Given the description of an element on the screen output the (x, y) to click on. 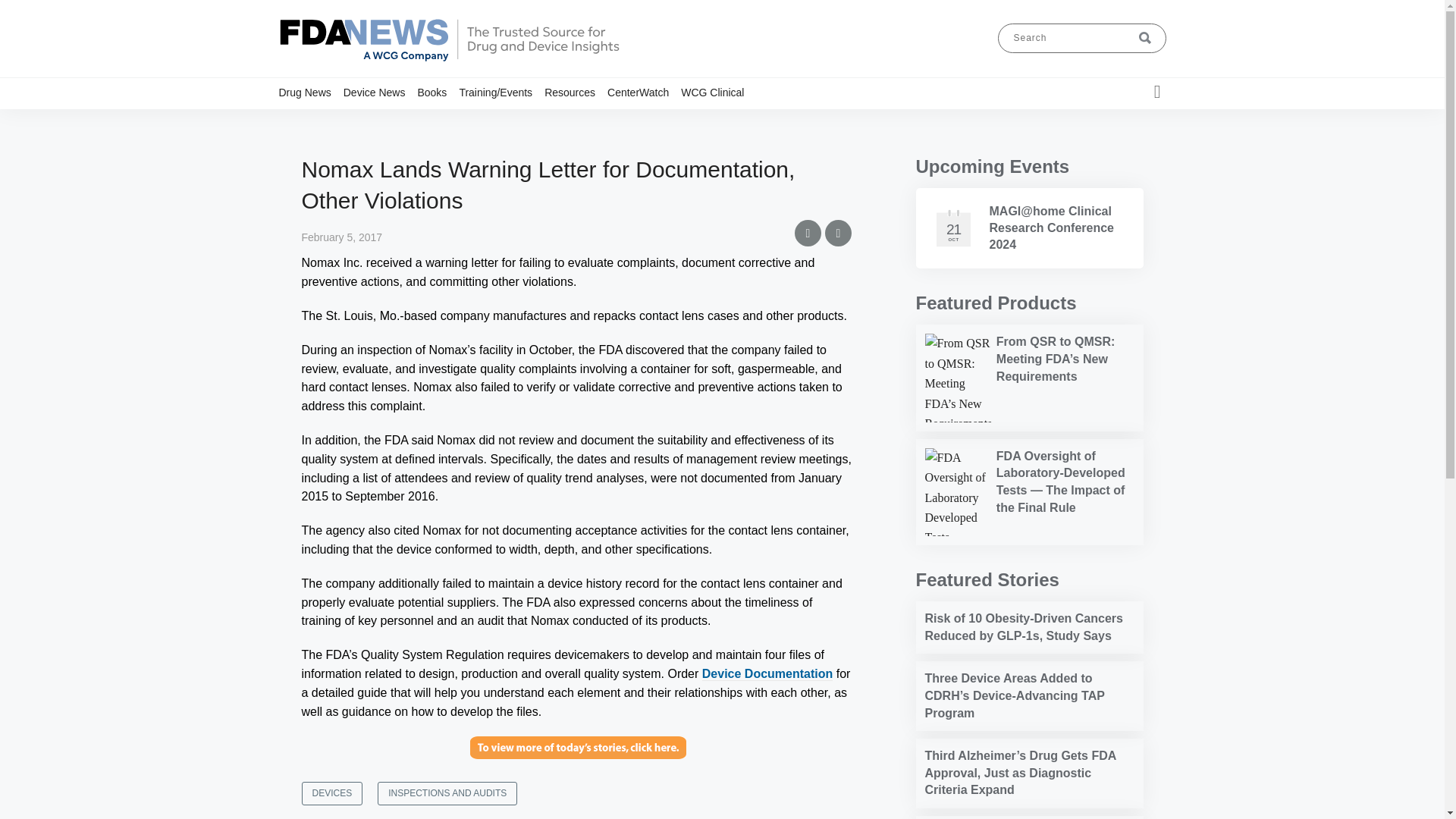
CenterWatch (644, 91)
Submissions and Approvals (388, 127)
Inspections and Audits (373, 121)
Postmarket Safety (378, 121)
Regulatory Affairs (445, 121)
Drug Books (499, 121)
Drug News (311, 91)
Research and Development (448, 127)
Resources (575, 91)
GMPs (365, 121)
FDA Approved Drugs (625, 121)
Postmarket Safety (438, 121)
Trending (419, 121)
Submissions and Approvals (451, 127)
Form 483s Database (619, 121)
